Given the description of an element on the screen output the (x, y) to click on. 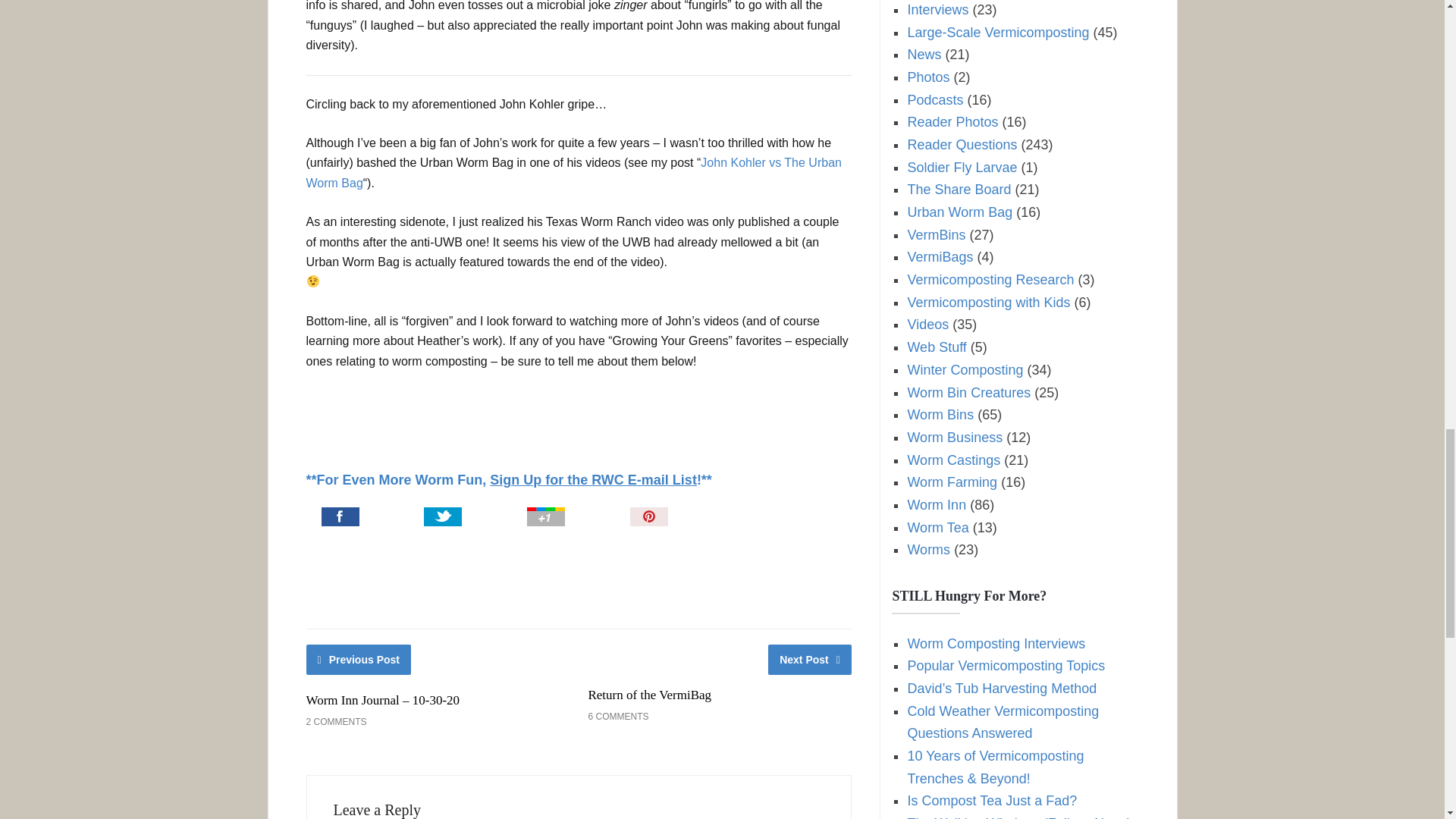
2 COMMENTS (335, 721)
Pin It! (687, 517)
Next Post (809, 659)
John Kohler vs The Urban Worm Bag (573, 172)
Previous Post (358, 659)
Return of the VermiBag (649, 694)
